Given the description of an element on the screen output the (x, y) to click on. 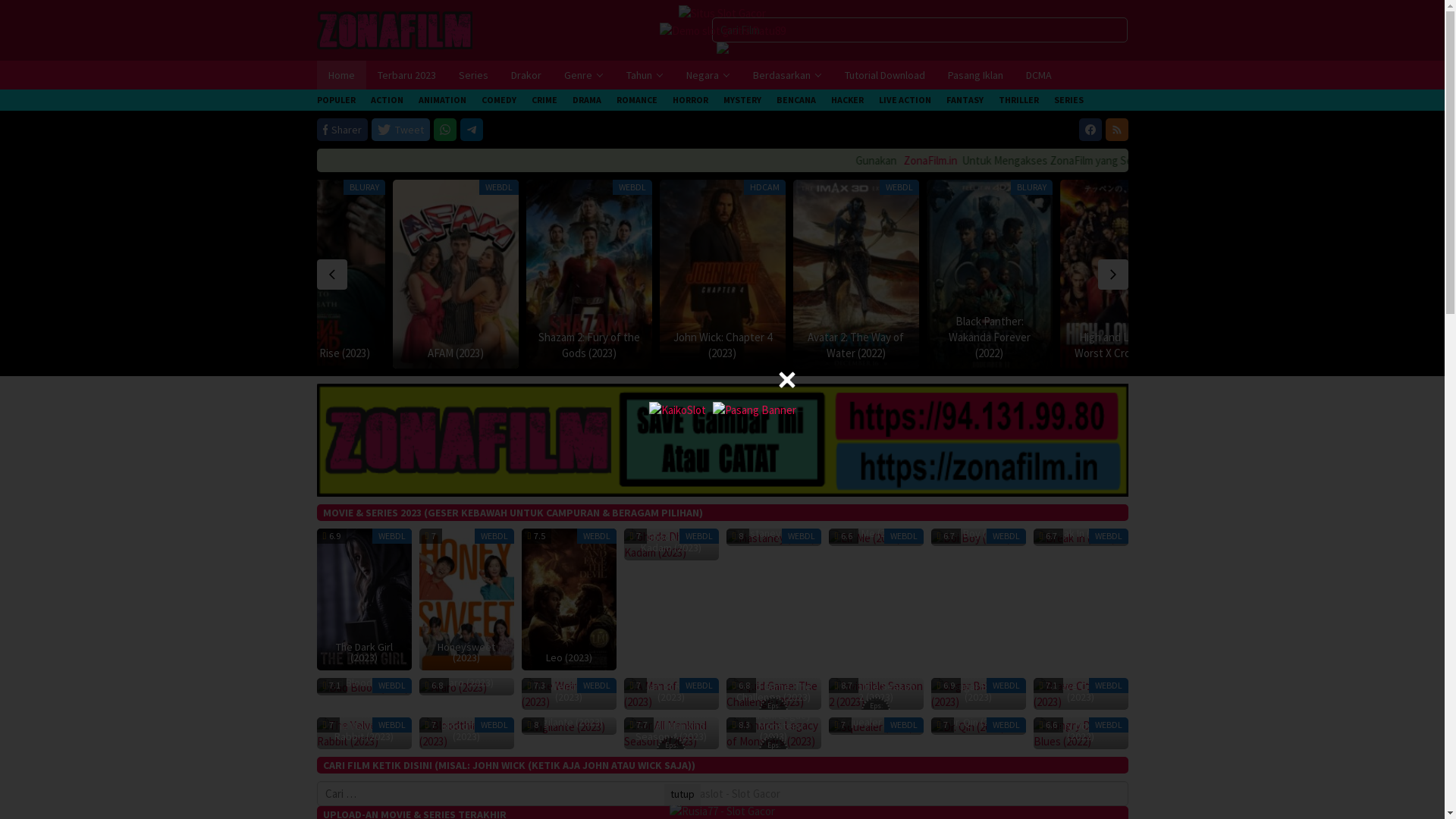
Doi Boy (2023) Element type: text (978, 532)
Honeysweet (2023) Element type: text (465, 651)
Pasang Banner Element type: hover (754, 409)
Invincible Season 2 (2023) Element type: hover (875, 693)
FANTASY Element type: text (964, 99)
Blue Beetle (2023) Element type: text (321, 352)
Leo (2023) Element type: text (568, 657)
Genre Element type: text (583, 74)
WEBDL Element type: text (698, 535)
WEBDL Element type: text (1108, 535)
Permalink ke: Monarch: Legacy of Monsters (2023) Element type: hover (773, 731)
WEBDL Element type: text (1005, 535)
Mastaney (2023) Element type: text (773, 532)
Tweet Element type: text (400, 129)
The Weird Forest (2023) Element type: text (568, 691)
Permalink ke: Sugar Baby (2023) Element type: hover (978, 692)
Permalink ke: Hidden Strike (2023) Element type: hover (455, 273)
Permalink ke: Doi Boy (2023) Element type: hover (970, 536)
Ghoda Dhai Kadam (2023) Element type: hover (670, 544)
Sugar Baby (2023) Element type: hover (978, 693)
ZonaFilm Element type: hover (394, 28)
WEBDL Element type: text (800, 535)
Elf Me (2023) Element type: hover (864, 538)
Negara Element type: text (707, 74)
Vigilante (2023) Element type: text (568, 721)
BLURAY Element type: text (363, 186)
Home Element type: text (341, 74)
Permalink ke: For All Mankind Season 4 (2023) Element type: hover (670, 731)
Judi89 Element type: hover (721, 13)
Squid Game: The Challenge (2023) Element type: text (773, 691)
Permalink ke: Dr. Qin (2023) Element type: hover (967, 725)
Facebook Element type: hover (1089, 129)
The Dark Girl (2023) Element type: hover (363, 599)
Permalink ke: Araro (2023) Element type: hover (452, 685)
POPULER Element type: text (335, 99)
Permalink ke: Ghoda Dhai Kadam (2023) Element type: hover (670, 542)
WEBDL Element type: text (595, 685)
Permalink ke: Brave Citizen (2023) Element type: hover (1079, 692)
Brave Citizen (2023) Element type: hover (1079, 693)
Permalink ke: Invincible Season 2 (2023) Element type: hover (875, 692)
DRAMA Element type: text (585, 99)
A Man of Reason (2023) Element type: hover (670, 693)
Whatsapp Element type: hover (444, 129)
ZonaFilm Element type: hover (394, 30)
WEBDL Element type: text (698, 685)
Permalink ke: Honeysweet (2023) Element type: hover (465, 597)
SERIES Element type: text (1068, 99)
CRIME Element type: text (543, 99)
DCMA Element type: text (1038, 74)
ZonaFilm21 Element type: hover (722, 439)
Pentaslot Element type: hover (722, 793)
WEBDL Element type: text (1108, 685)
Invincible Season 2 (2023) Element type: text (875, 691)
THRILLER Element type: text (1017, 99)
The Velveteen Rabbit (2023) Element type: text (364, 730)
MYSTERY Element type: text (742, 99)
Tutorial Download Element type: text (883, 74)
Araro (2023) Element type: hover (452, 687)
Permalink ke: Bad Blood (2023) Element type: hover (362, 685)
WEBDL Element type: text (1005, 724)
Bad Blood (2023) Element type: hover (362, 687)
Cari Element type: text (17, 12)
WEBDL Element type: text (494, 535)
Permalink ke: The Flash (2023) Element type: hover (589, 273)
Ratu89 Element type: hover (722, 30)
The Flash (2023) Element type: text (991, 352)
BENCANA Element type: text (795, 99)
WEBDL Element type: text (494, 724)
Sugar Baby (2023) Element type: text (978, 691)
WEBDL Element type: text (908, 186)
For All Mankind Season 4 (2023) Element type: hover (670, 733)
tutup Element type: hover (787, 379)
WEBDL Element type: text (391, 724)
RSS Element type: hover (1116, 129)
Leo (2023) Element type: hover (568, 599)
WEBDL Element type: text (903, 535)
WEBDL Element type: text (799, 186)
WEBDL Element type: text (595, 535)
Permalink ke: Vigilante (2023) Element type: hover (563, 725)
Brave Citizen (2023) Element type: text (1080, 691)
Monarch: Legacy of Monsters (2023) Element type: hover (773, 733)
COMEDY Element type: text (497, 99)
HACKER Element type: text (847, 99)
Permalink ke: Shazam 2: Fury of the Gods (2023) Element type: hover (989, 273)
Permalink ke: Mastaney (2023) Element type: hover (770, 536)
Mastaney (2023) Element type: hover (770, 538)
Permalink ke: The Weird Forest (2023) Element type: hover (568, 692)
Permalink ke: The Dark Girl (2023) Element type: hover (363, 597)
Permalink ke: John Wick: Chapter 4 (2023) Element type: hover (1123, 273)
Permalink ke: Squealer (2023) Element type: hover (870, 725)
Pasang Iklan Element type: text (974, 74)
Berdasarkan Element type: text (787, 74)
ANIMATION Element type: text (442, 99)
LIVE ACTION Element type: text (904, 99)
  Element type: text (1113, 274)
WEBDL Element type: text (1108, 724)
One Piece Live Action (2023) Element type: text (454, 344)
Series Element type: text (473, 74)
Dr. Qin (2023) Element type: hover (967, 726)
WEBDL Element type: text (903, 724)
A Man of Reason (2023) Element type: text (670, 691)
ROMANCE Element type: text (635, 99)
The Velveteen Rabbit (2023) Element type: hover (363, 733)
Squealer (2023) Element type: text (875, 721)
Meg 2: The Trench (2023) Element type: text (692, 344)
Spider-Man: Across the Spider-Verse (2023) Element type: text (766, 344)
Hidden Strike (2023) Element type: text (869, 352)
  Element type: text (331, 274)
WEBDL Element type: text (1005, 685)
The Dark Girl (2023) Element type: text (364, 651)
Loncat ke konten Element type: text (0, 0)
WEBDL Element type: text (391, 535)
Honeysweet (2023) Element type: hover (465, 599)
ZonaFilm.in Element type: text (761, 160)
Hungry Dog Blues (2022) Element type: text (1080, 730)
Hungry Dog Blues (2022) Element type: hover (1079, 733)
WEBDL Element type: text (719, 186)
Squid Game: The Challenge (2023) Element type: hover (773, 693)
WEBDL Element type: text (391, 685)
Araro (2023) Element type: text (465, 682)
Vigilante (2023) Element type: hover (563, 726)
The Weird Forest (2023) Element type: hover (568, 693)
Bloodthirst (2023) Element type: text (465, 730)
Tahun Element type: text (644, 74)
Terbaru 2023 Element type: text (405, 74)
Permalink ke: Leo (2023) Element type: hover (568, 597)
For All Mankind Season 4 (2023) Element type: text (670, 730)
Break In (2023) Element type: text (1080, 532)
Permalink ke: Break In (2023) Element type: hover (1073, 536)
Doi Boy (2023) Element type: hover (970, 538)
Dr. Qin (2023) Element type: text (978, 721)
HORROR Element type: text (689, 99)
Permalink ke: The Velveteen Rabbit (2023) Element type: hover (363, 731)
Telegram Element type: hover (471, 129)
tutup Element type: text (682, 794)
Permalink ke: A Man of Reason (2023) Element type: hover (670, 692)
Sharer Element type: text (342, 129)
Drakor Element type: text (525, 74)
Permalink ke: Hungry Dog Blues (2022) Element type: hover (1079, 731)
Permalink ke: Bloodthirst (2023) Element type: hover (465, 731)
Break In (2023) Element type: hover (1073, 538)
Monarch: Legacy of Monsters (2023) Element type: text (773, 725)
Bloodthirst (2023) Element type: hover (465, 733)
Elf Me (2023) Element type: text (875, 532)
KaikoSlot Element type: hover (677, 409)
WEBDL Element type: text (1033, 186)
Evil Dead Rise (2023) Element type: text (1122, 352)
Permalink ke: Spider-Man: Across the Spider-Verse (2023) Element type: hover (322, 273)
Permalink ke: Elf Me (2023) Element type: hover (864, 536)
Permalink ke: Squid Game: The Challenge (2023) Element type: hover (773, 692)
Bad Blood (2023) Element type: text (364, 682)
Ghoda Dhai Kadam (2023) Element type: text (670, 541)
Permalink ke: AFAM (2023) Element type: hover (856, 273)
WEBDL Element type: text (632, 186)
ACTION Element type: text (386, 99)
Squealer (2023) Element type: hover (870, 726)
Permalink ke: Evil Dead Rise (2023) Element type: hover (722, 273)
